Given the description of an element on the screen output the (x, y) to click on. 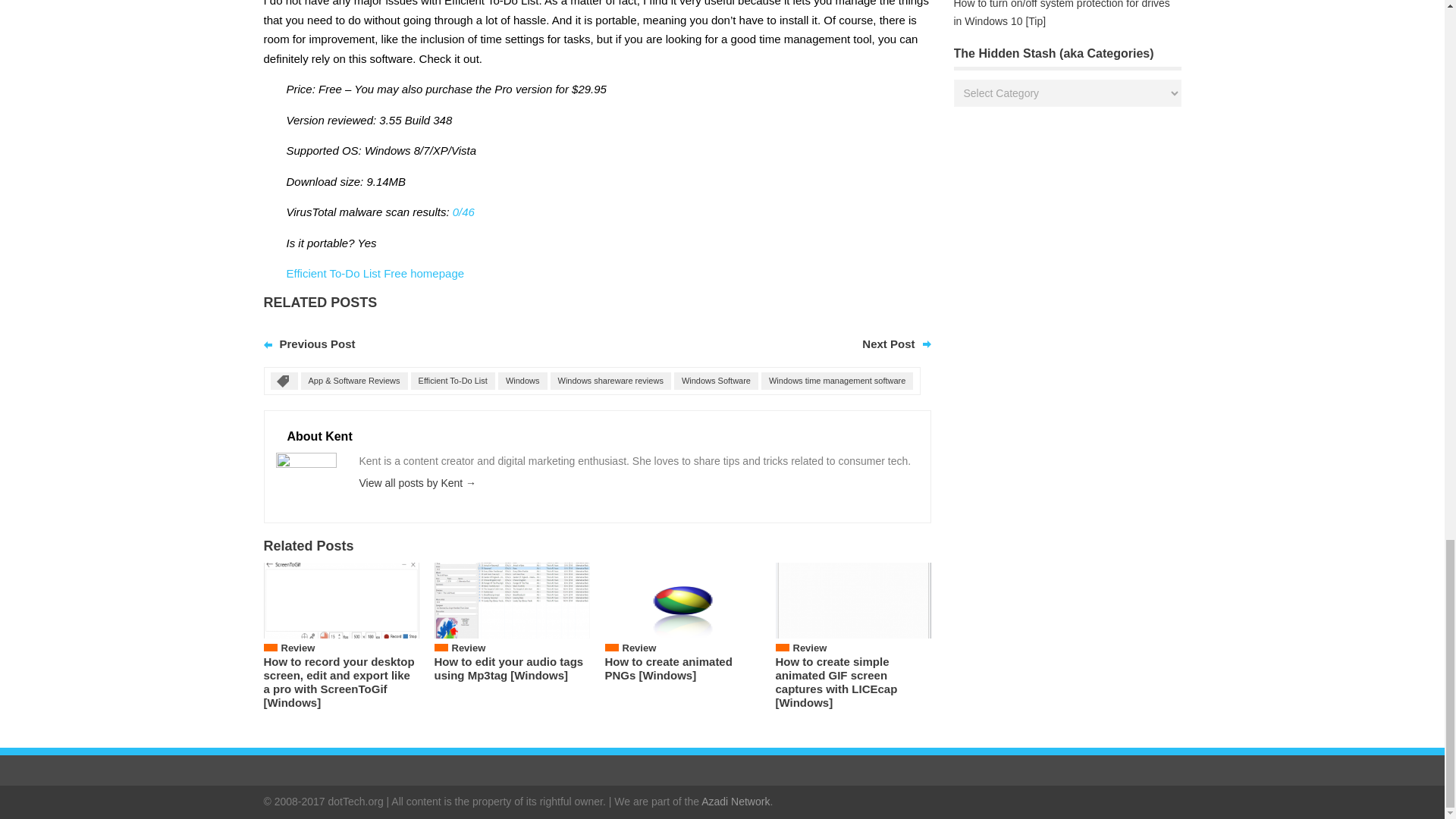
Windows Software (716, 380)
Review (297, 647)
Review (638, 647)
Windows time management software (836, 380)
Windows shareware reviews (610, 380)
Review (468, 647)
Review (810, 647)
Previous Post (317, 343)
Windows (522, 380)
Efficient To-Do List Free homepage (375, 273)
Efficient To-Do List (452, 380)
Next Post (887, 343)
